Given the description of an element on the screen output the (x, y) to click on. 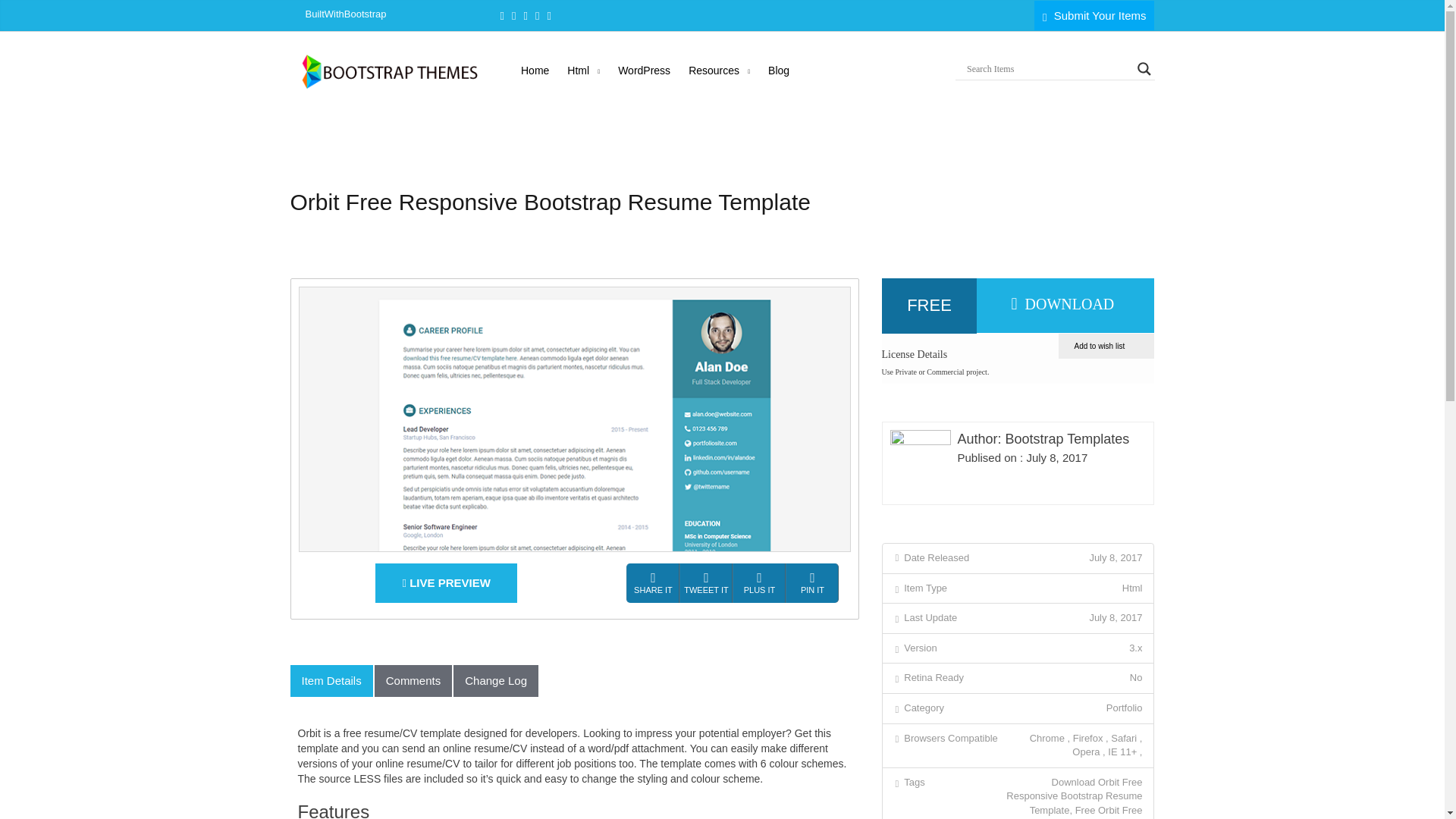
WordPress (643, 70)
Resources (718, 70)
TWEEET IT (705, 583)
Html (582, 70)
Blog (777, 70)
Home (534, 70)
SHARE IT (652, 583)
BuiltWithBootstrap (344, 13)
LIVE PREVIEW (445, 582)
Submit Your Items (1093, 15)
